Given the description of an element on the screen output the (x, y) to click on. 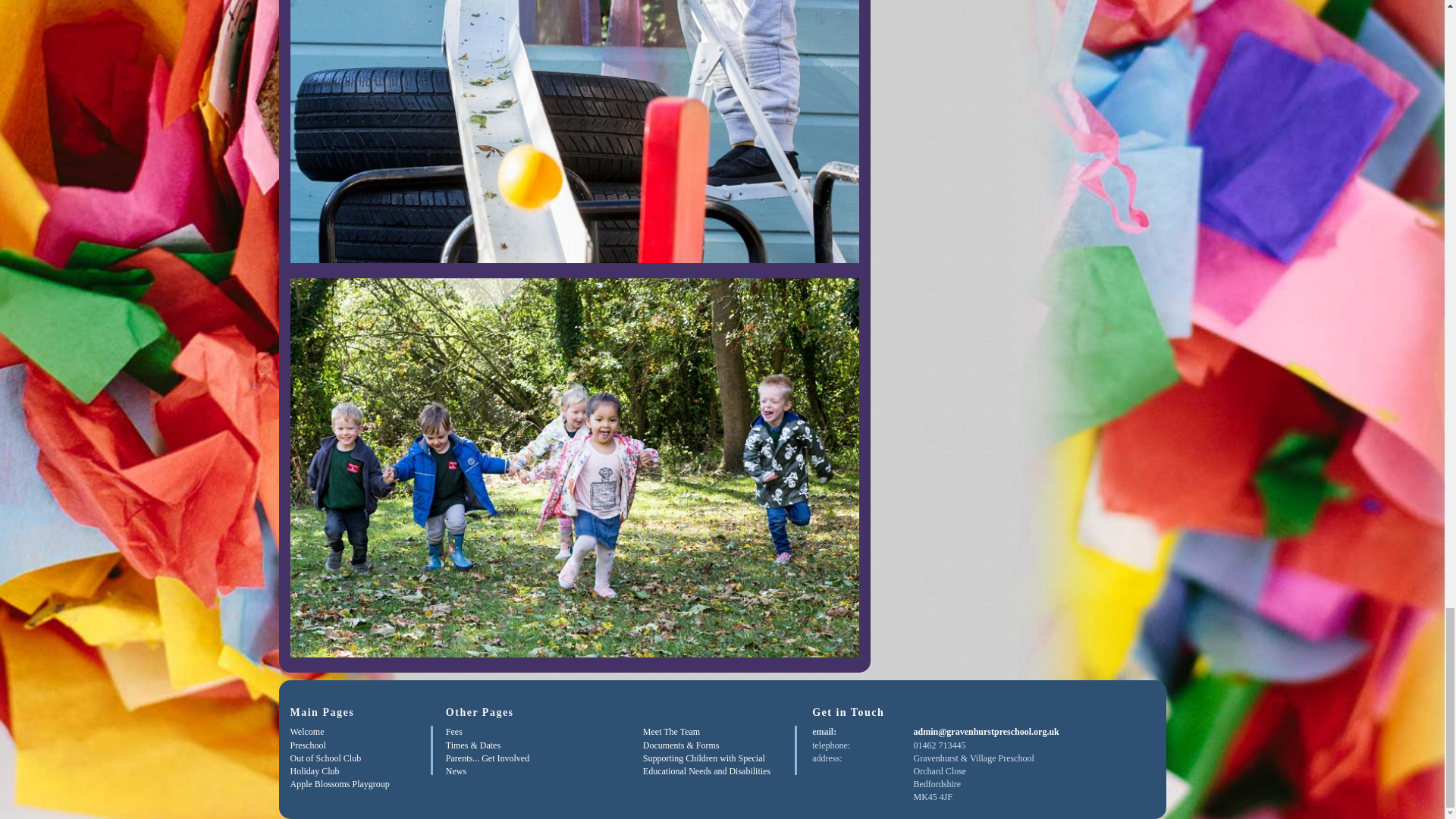
Meet The Team (671, 731)
Apple Blossoms Playgroup (338, 783)
Preschool (306, 745)
News (455, 770)
Out of School Club (325, 757)
Parents... Get Involved (487, 757)
Fees (454, 731)
Welcome (306, 731)
Get in Touch (847, 712)
